Given the description of an element on the screen output the (x, y) to click on. 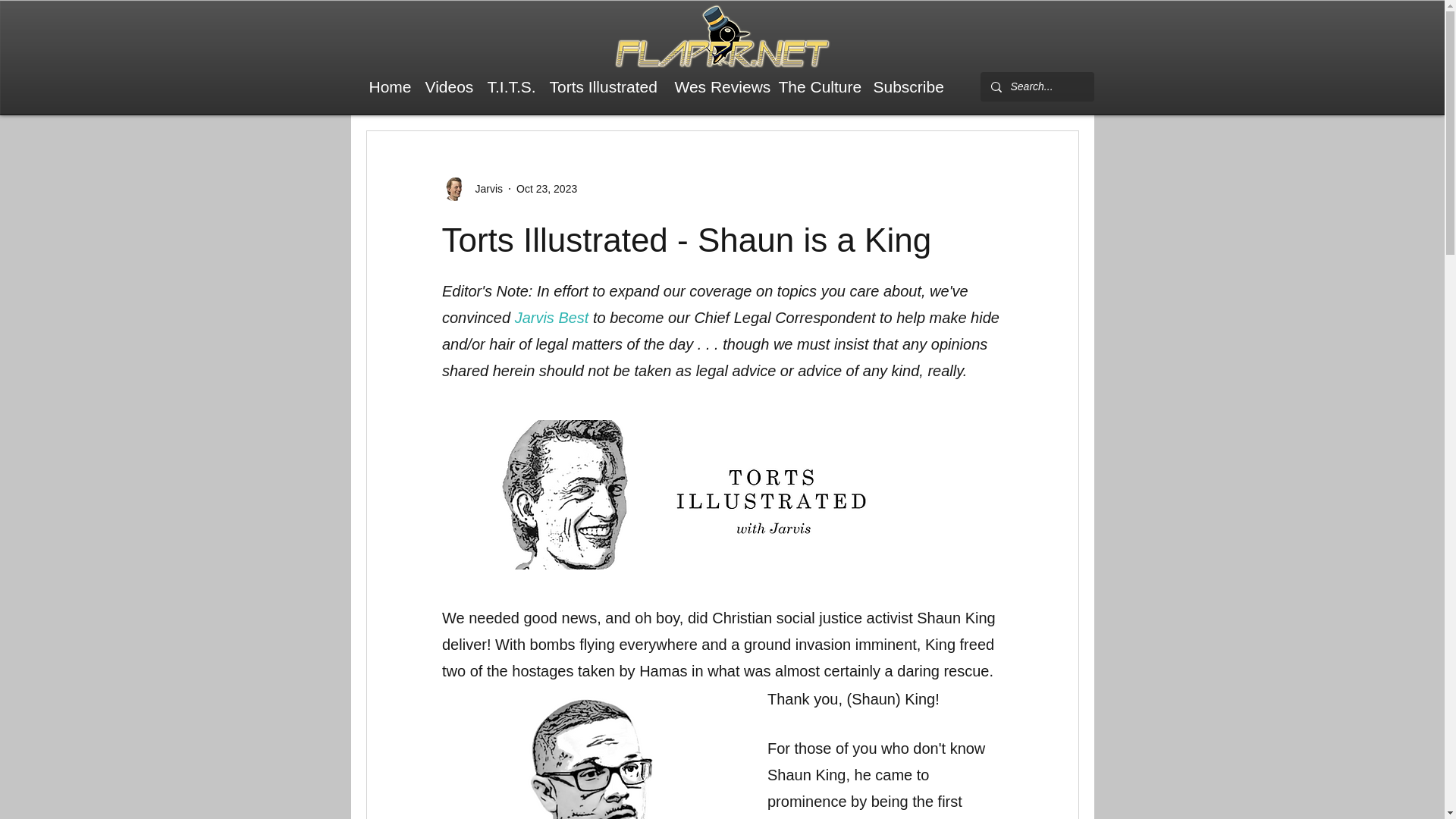
Torts Illustrated (603, 86)
Jarvis Best (550, 317)
Home (388, 86)
Oct 23, 2023 (546, 187)
Videos (447, 86)
Jarvis (471, 188)
Wes Reviews (718, 86)
T.I.T.S. (510, 86)
The Culture (817, 86)
Jarvis (483, 188)
